Given the description of an element on the screen output the (x, y) to click on. 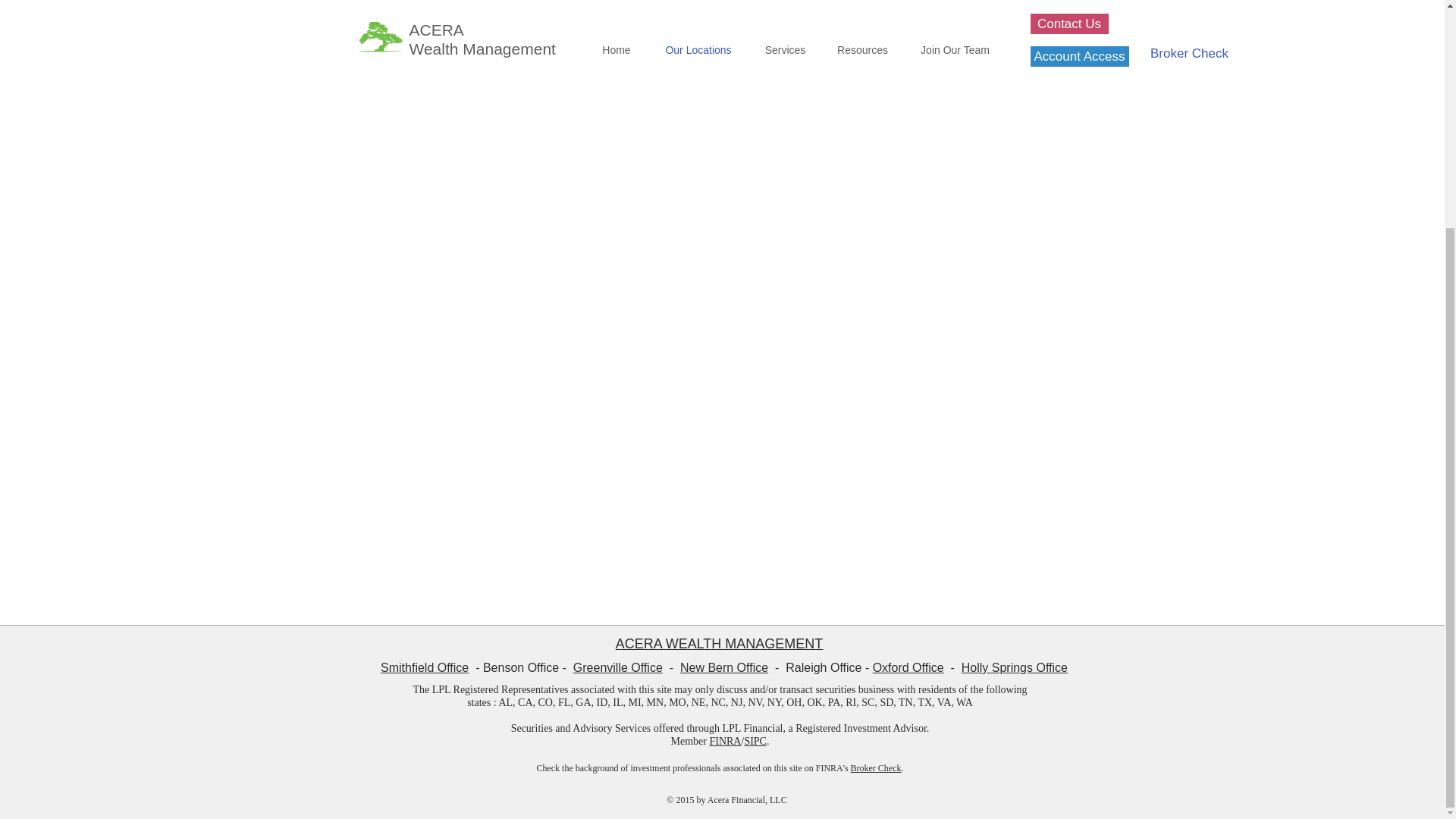
ACERA WEALTH MANAGEMENT (719, 643)
Greenville Office (617, 667)
Smithfield Office (424, 667)
Benson Office (521, 667)
